Given the description of an element on the screen output the (x, y) to click on. 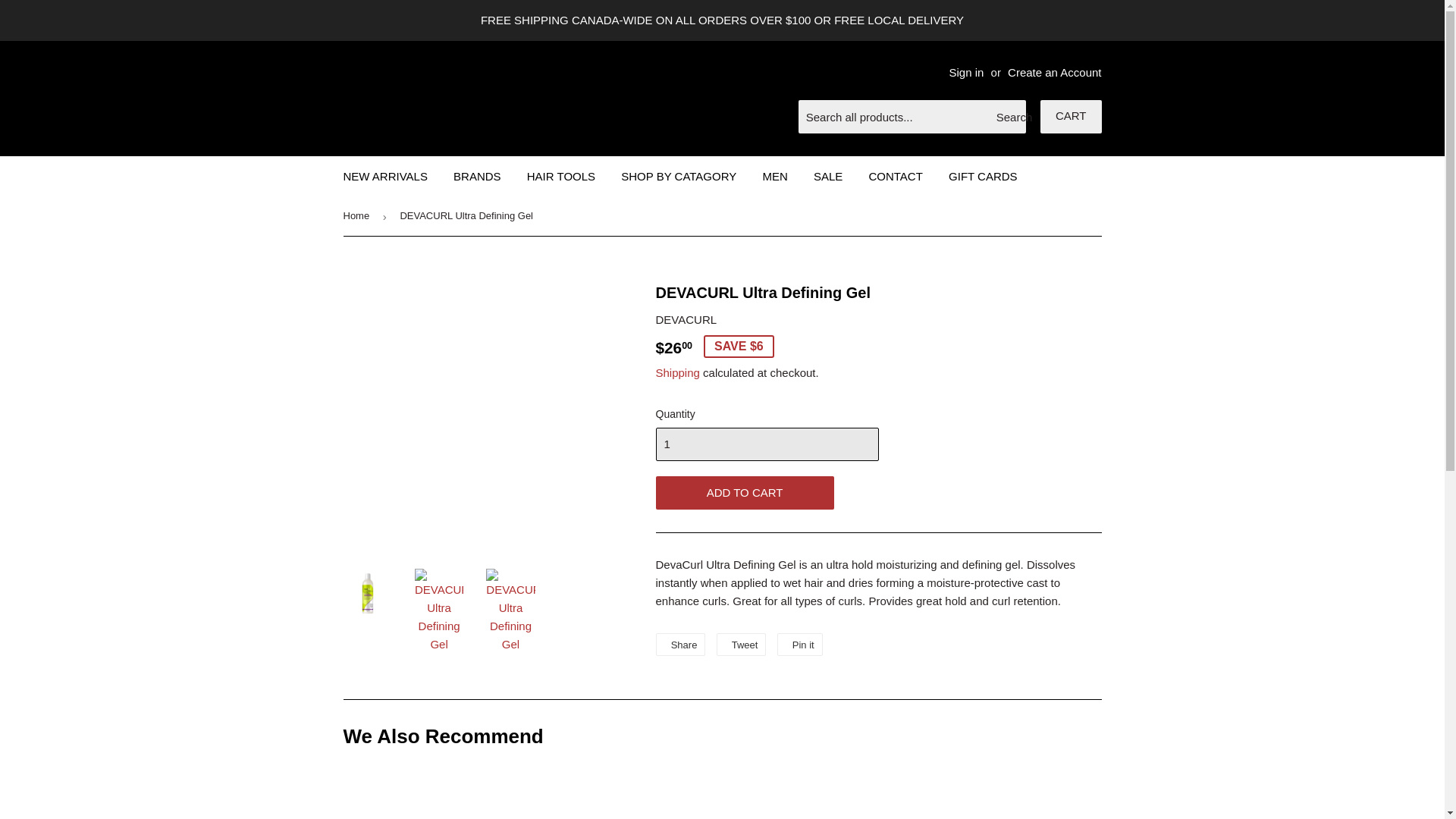
CART (1071, 116)
NEW ARRIVALS (385, 176)
Share on Facebook (679, 644)
Pin on Pinterest (799, 644)
Tweet on Twitter (741, 644)
Create an Account (1053, 72)
Search (1008, 117)
HAIR TOOLS (561, 176)
Sign in (966, 72)
BRANDS (477, 176)
